Given the description of an element on the screen output the (x, y) to click on. 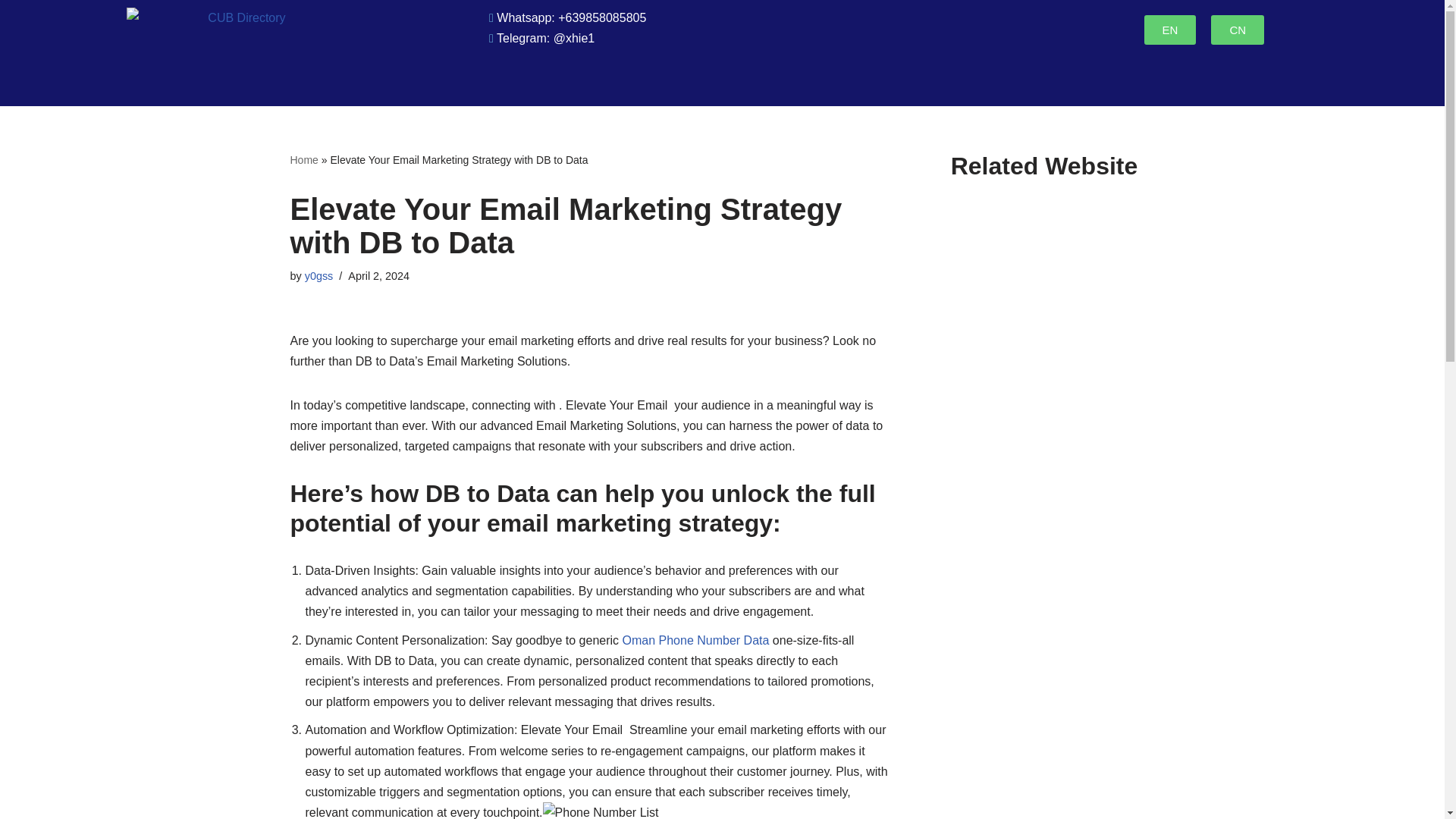
Posts by y0gss (318, 275)
EN (1170, 30)
Oman Phone Number Data (696, 640)
y0gss (318, 275)
Skip to content (11, 31)
CN (1237, 30)
Home (303, 159)
